Given the description of an element on the screen output the (x, y) to click on. 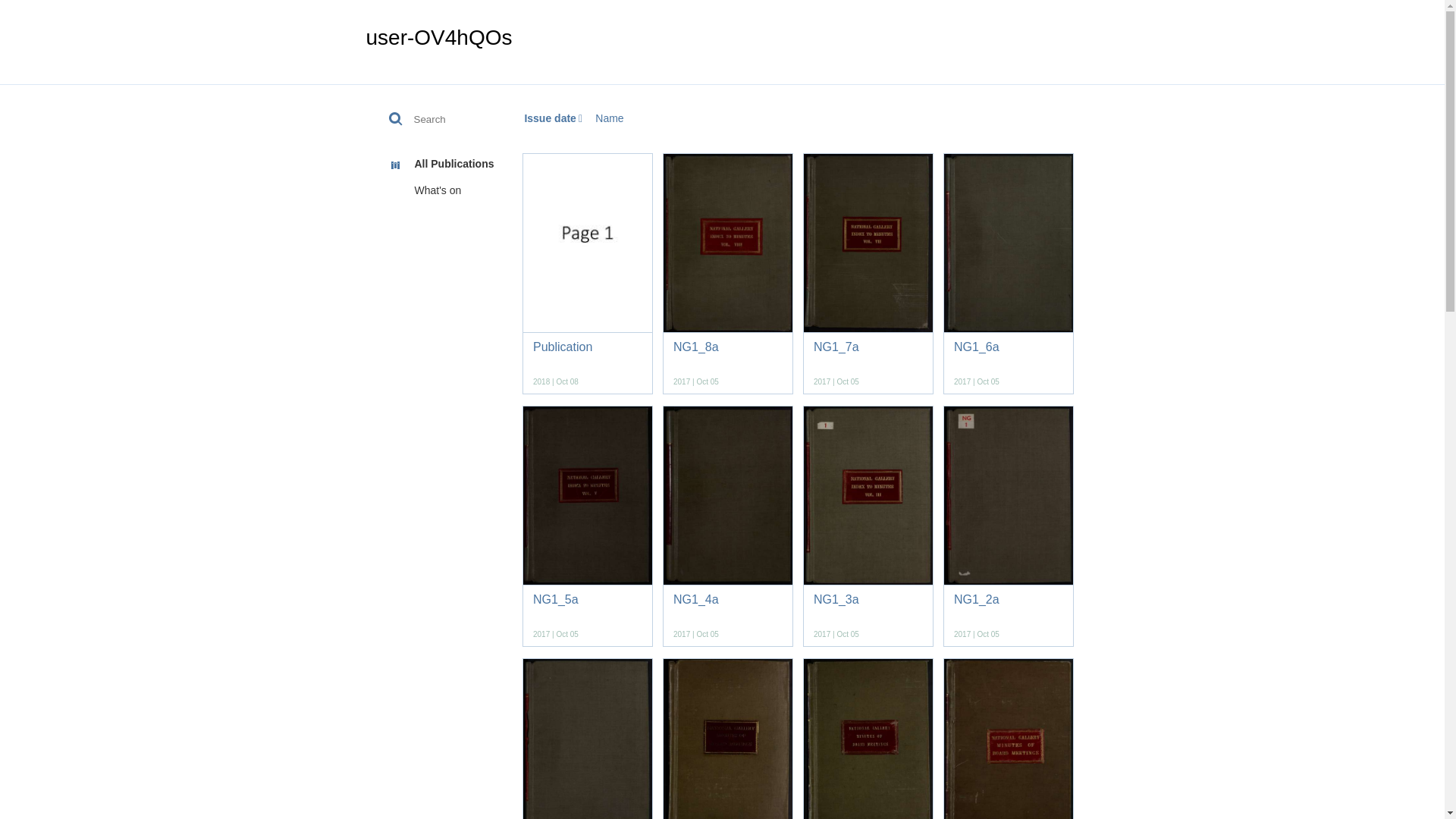
Publication
2018 | Oct 08 Element type: text (587, 273)
All Publications Element type: text (433, 164)
NG1_5a
2017 | Oct 05 Element type: text (587, 525)
Issue date Element type: text (553, 118)
What's on Element type: text (433, 191)
NG1_3a
2017 | Oct 05 Element type: text (868, 525)
NG1_8a
2017 | Oct 05 Element type: text (727, 273)
NG1_2a
2017 | Oct 05 Element type: text (1008, 525)
NG1_6a
2017 | Oct 05 Element type: text (1008, 273)
NG1_7a
2017 | Oct 05 Element type: text (868, 273)
NG1_4a
2017 | Oct 05 Element type: text (727, 525)
Name Element type: text (609, 118)
